Given the description of an element on the screen output the (x, y) to click on. 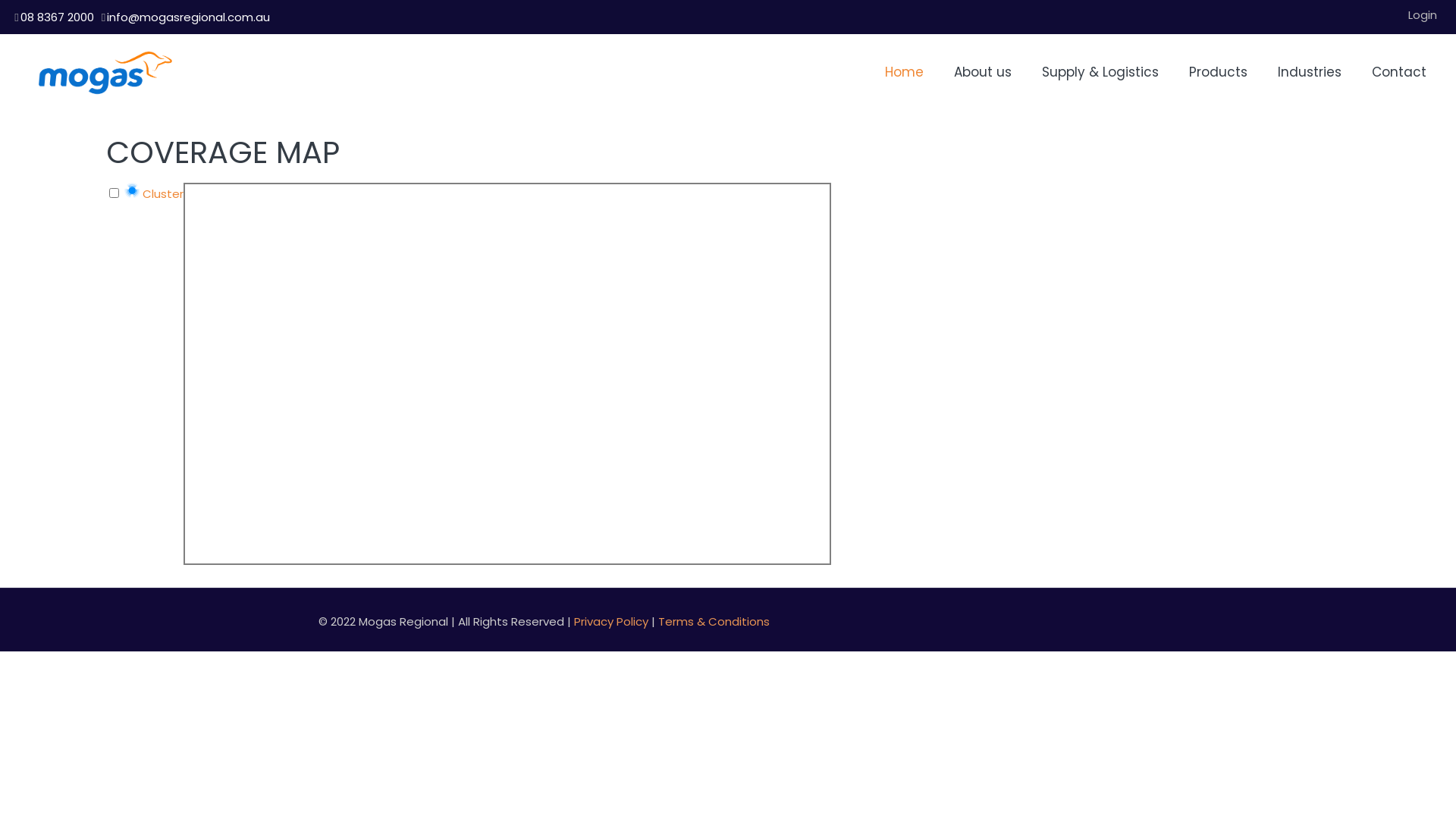
Login Element type: text (1422, 14)
Industries Element type: text (1309, 71)
on Element type: text (114, 192)
Mogas Regional Element type: hover (104, 71)
info@mogasregional.com.au Element type: text (187, 17)
Products Element type: text (1217, 71)
Terms & Conditions Element type: text (713, 621)
About us Element type: text (982, 71)
08 8367 2000 Element type: text (57, 17)
Privacy Policy Element type: text (611, 621)
Cluster Element type: text (153, 193)
Contact Element type: text (1398, 71)
Home Element type: text (903, 71)
Supply & Logistics Element type: text (1099, 71)
